Given the description of an element on the screen output the (x, y) to click on. 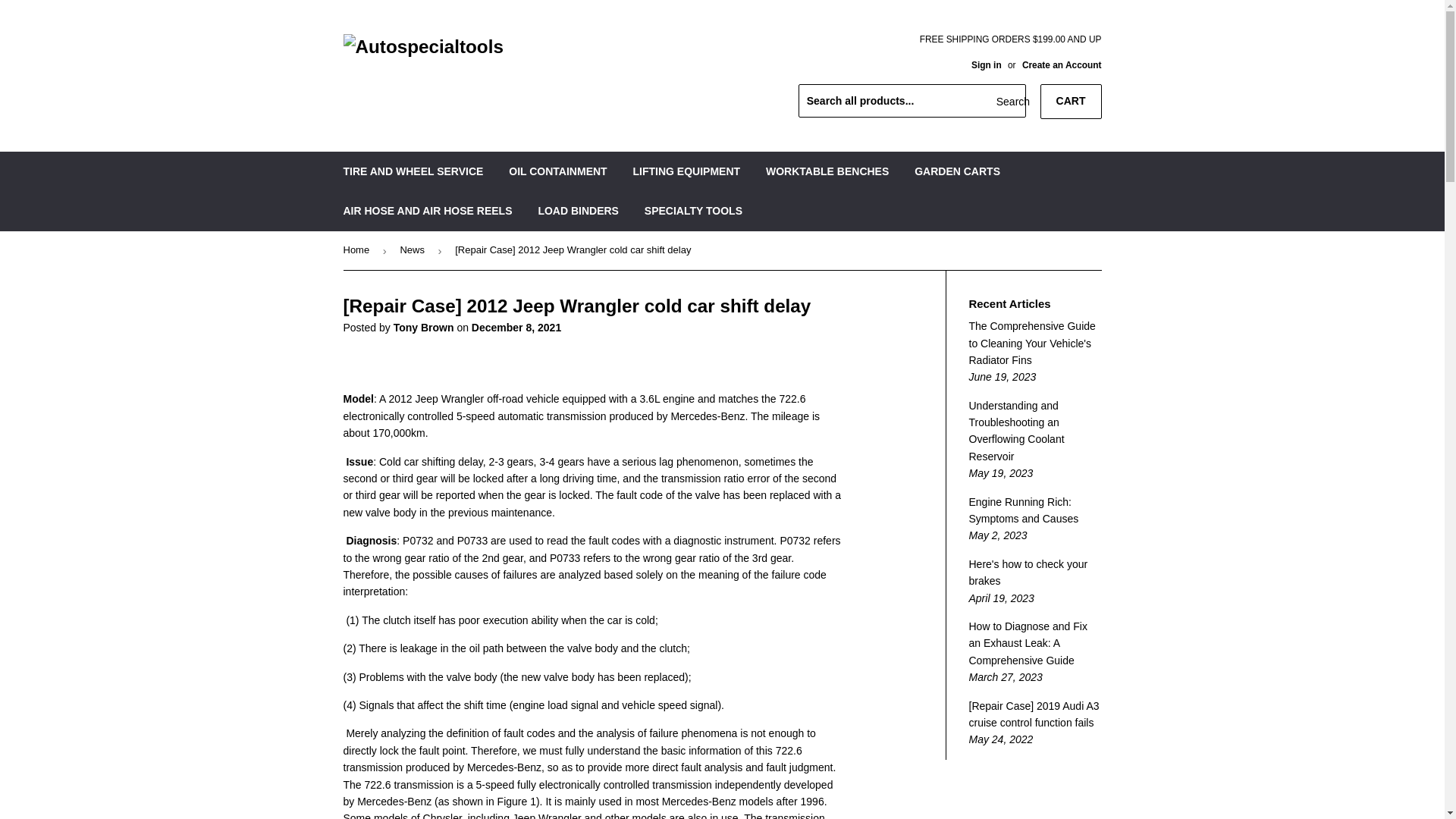
Create an Account (1062, 64)
LIFTING EQUIPMENT (686, 170)
SPECIALTY TOOLS (693, 210)
AIR HOSE AND AIR HOSE REELS (427, 210)
WORKTABLE BENCHES (826, 170)
CART (1071, 101)
Search (1008, 101)
LOAD BINDERS (577, 210)
OIL CONTAINMENT (557, 170)
TIRE AND WHEEL SERVICE (413, 170)
